Given the description of an element on the screen output the (x, y) to click on. 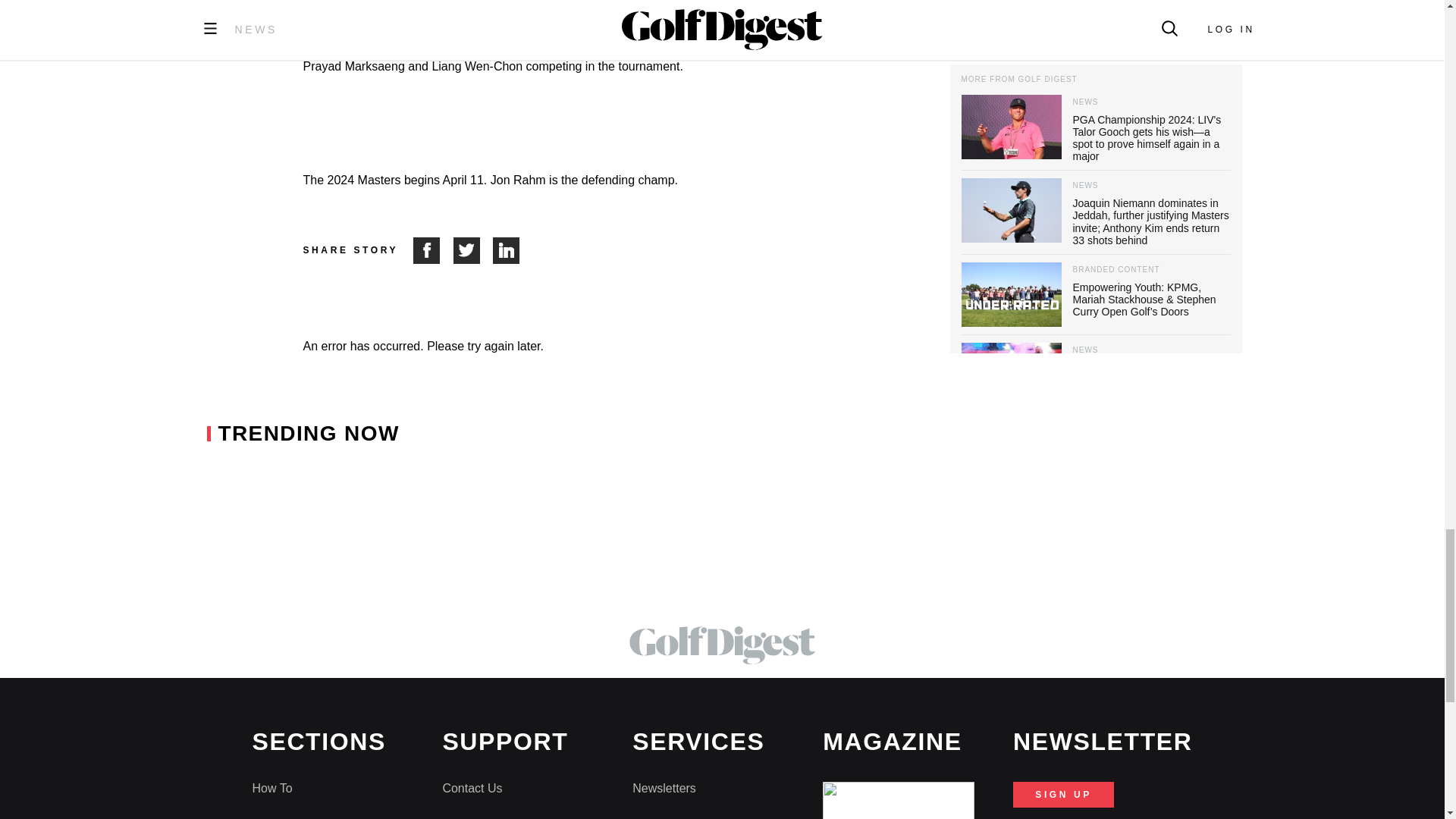
Share on Facebook (432, 250)
Share on LinkedIn (506, 250)
Share on Twitter (472, 250)
